Given the description of an element on the screen output the (x, y) to click on. 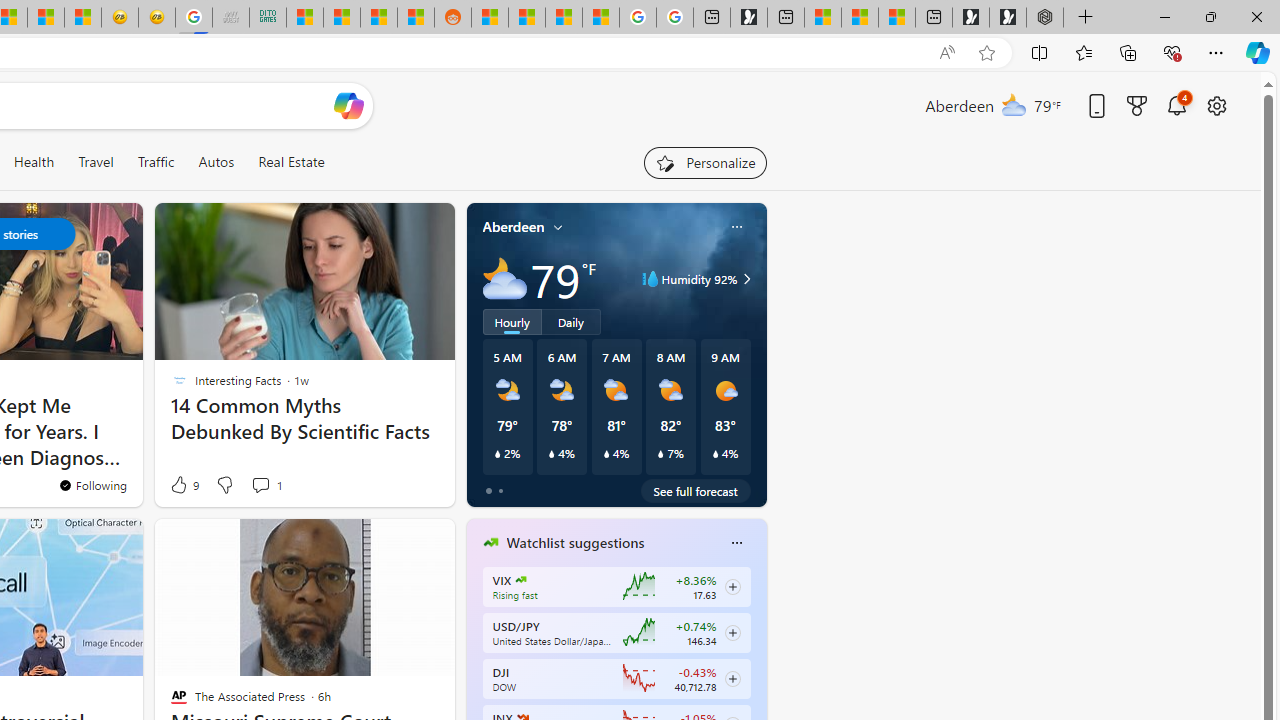
You're following FOX News (390, 490)
next (756, 670)
These 3 Stocks Pay You More Than 5% to Own Them (897, 17)
